Given the description of an element on the screen output the (x, y) to click on. 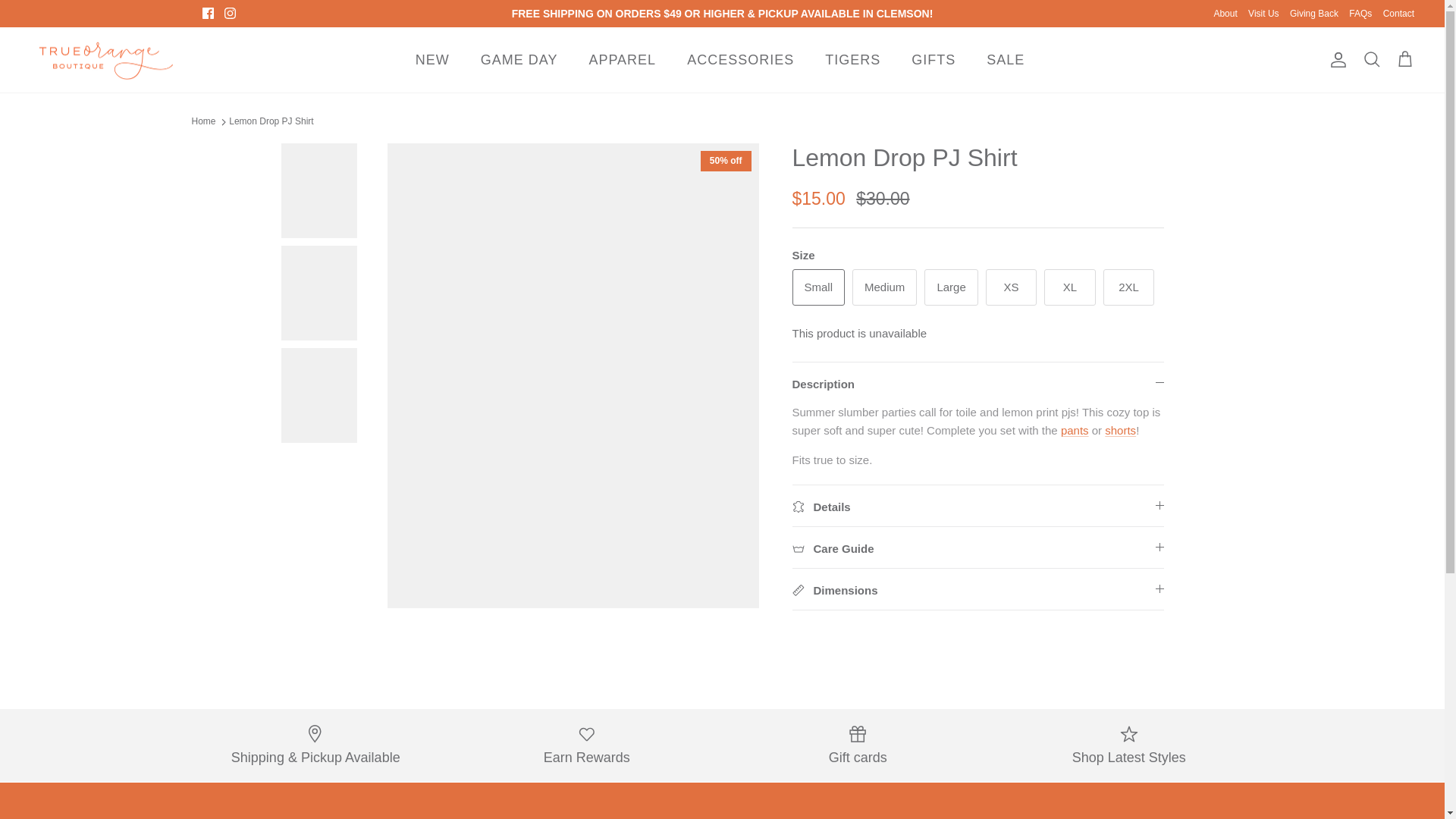
NEW (432, 59)
GAME DAY (519, 59)
SALE (1005, 59)
Cart (1404, 59)
Search (1371, 59)
Giving Back (1314, 13)
Visit Us (1262, 13)
ACCESSORIES (740, 59)
Facebook (208, 12)
Instagram (229, 12)
